Given the description of an element on the screen output the (x, y) to click on. 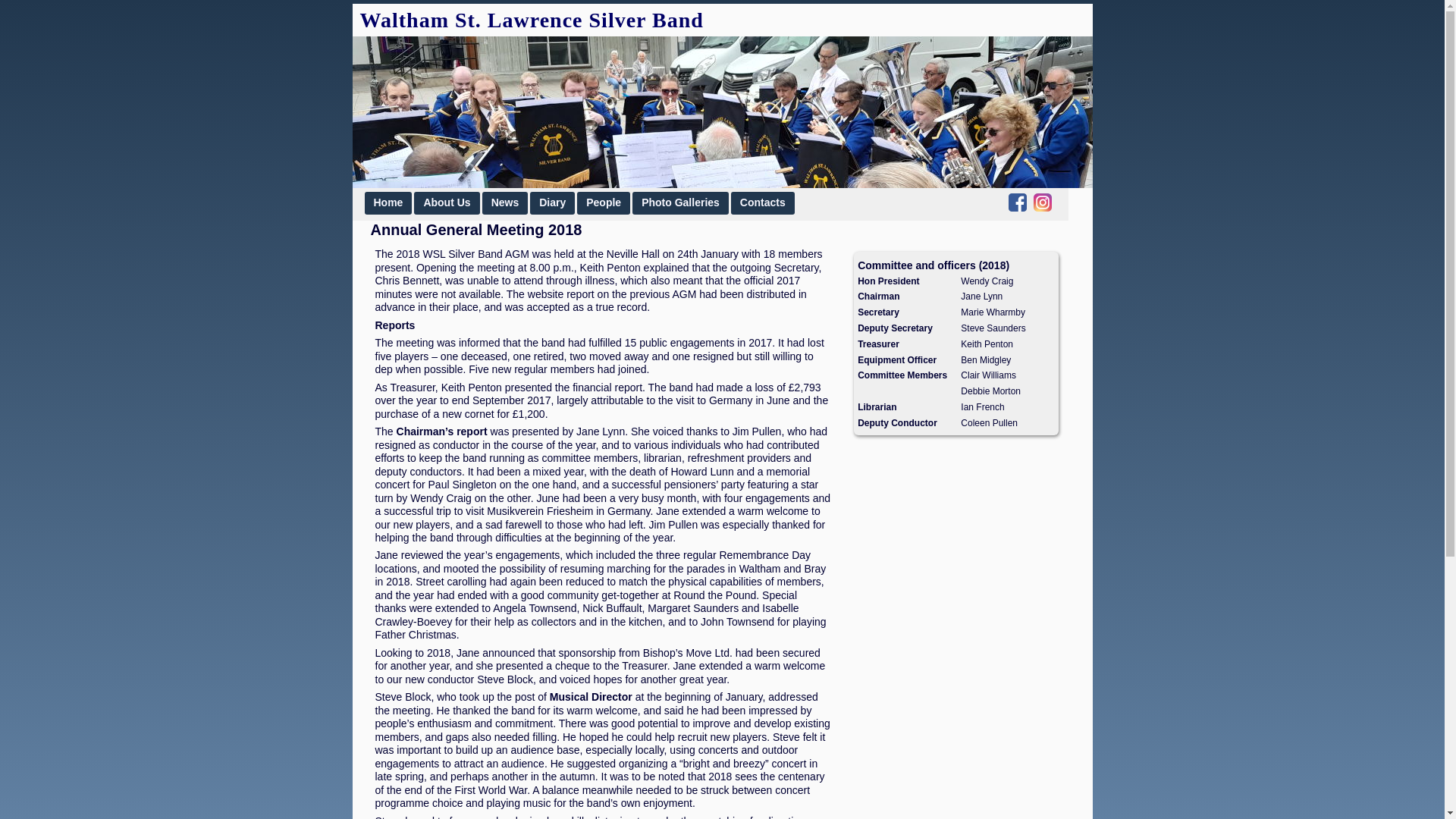
Photo Galleries (680, 202)
Waltham St. Lawrence Silver Band (531, 19)
People (603, 202)
Contacts (762, 202)
Home (388, 202)
About Us (446, 202)
Diary (552, 202)
News (504, 202)
